Given the description of an element on the screen output the (x, y) to click on. 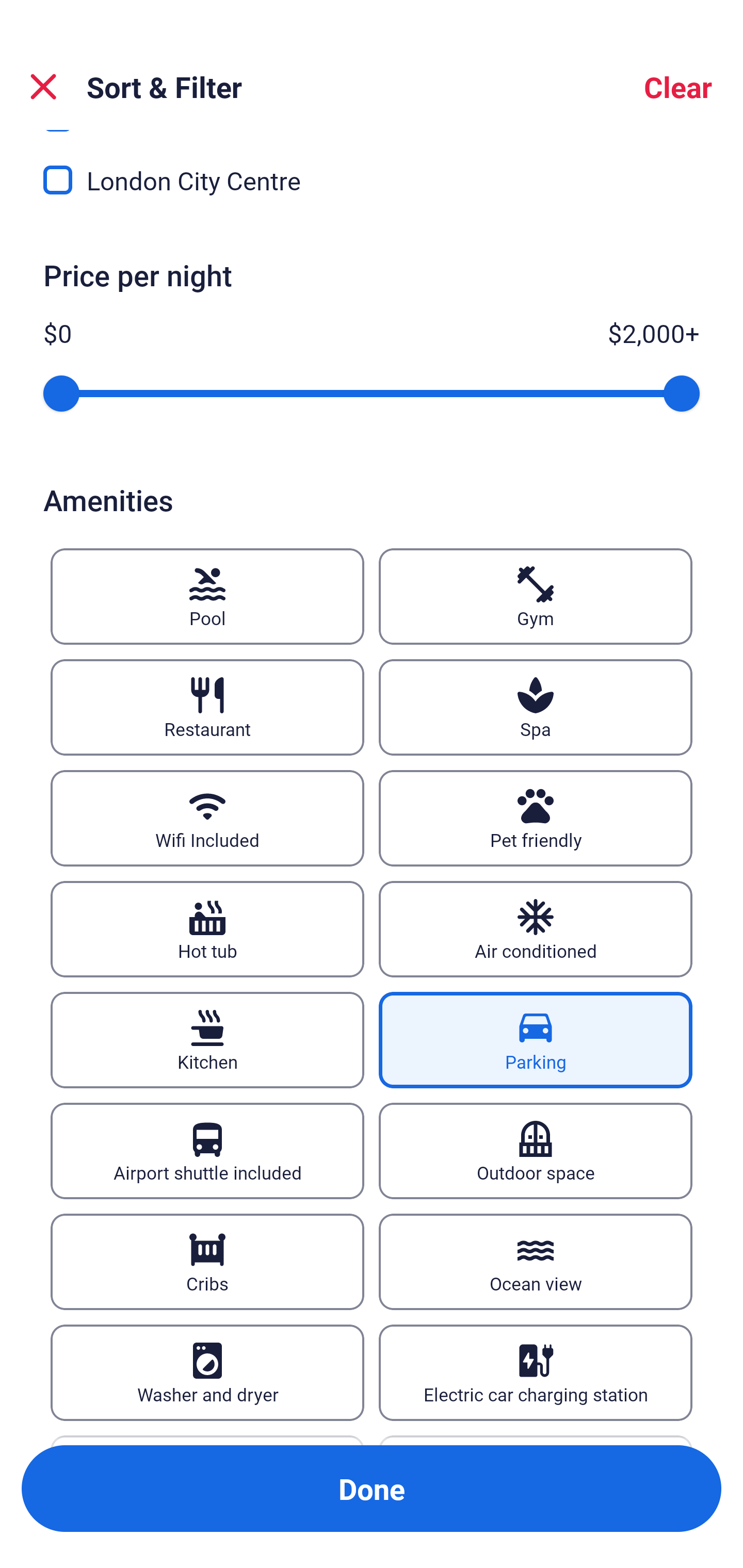
Close Sort and Filter (43, 86)
Clear (677, 86)
London City Centre, London City Centre (371, 180)
Pool (207, 596)
Gym (535, 596)
Restaurant (207, 706)
Spa (535, 706)
Wifi Included (207, 818)
Pet friendly (535, 818)
Hot tub (207, 928)
Air conditioned (535, 928)
Kitchen (207, 1040)
Parking (535, 1040)
Airport shuttle included (207, 1150)
Outdoor space (535, 1150)
Cribs (207, 1261)
Ocean view (535, 1261)
Washer and dryer (207, 1372)
Electric car charging station (535, 1372)
Apply and close Sort and Filter Done (371, 1488)
